Given the description of an element on the screen output the (x, y) to click on. 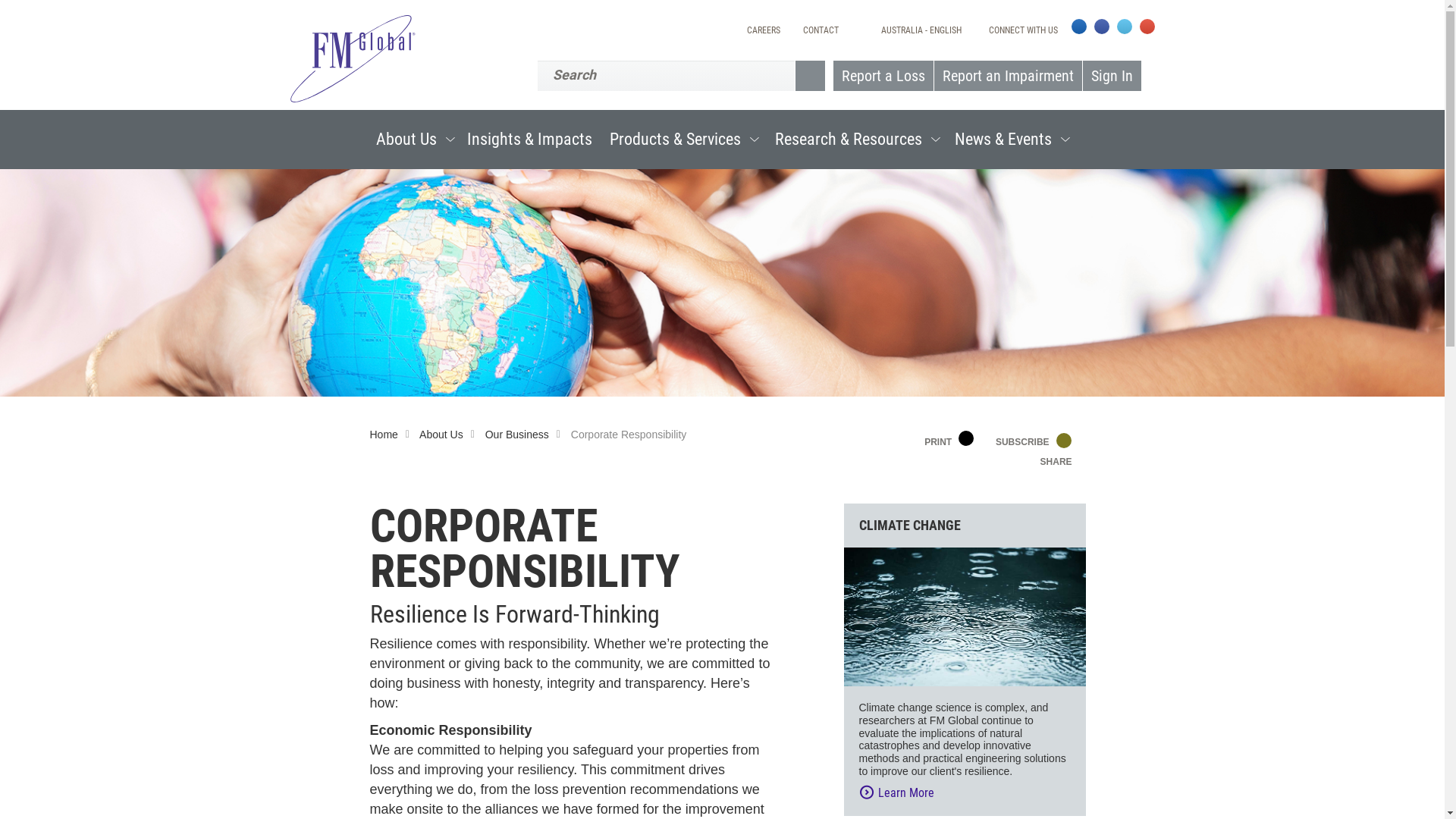
Report a Loss Element type: text (882, 75)
Our Business Element type: text (526, 434)
News & Events Element type: text (1010, 139)
Products & Services Element type: text (682, 139)
About Us Element type: text (450, 434)
About Us Element type: text (414, 139)
Insights & Impacts Element type: text (529, 139)
Home Element type: text (393, 434)
Report an Impairment Element type: text (1006, 75)
CONTACT Element type: text (820, 30)
Learn More Element type: text (974, 792)
Sign In Element type: text (1110, 75)
Research & Resources Element type: text (855, 139)
AUSTRALIA - ENGLISH Element type: text (920, 30)
CAREERS Element type: text (763, 30)
